Given the description of an element on the screen output the (x, y) to click on. 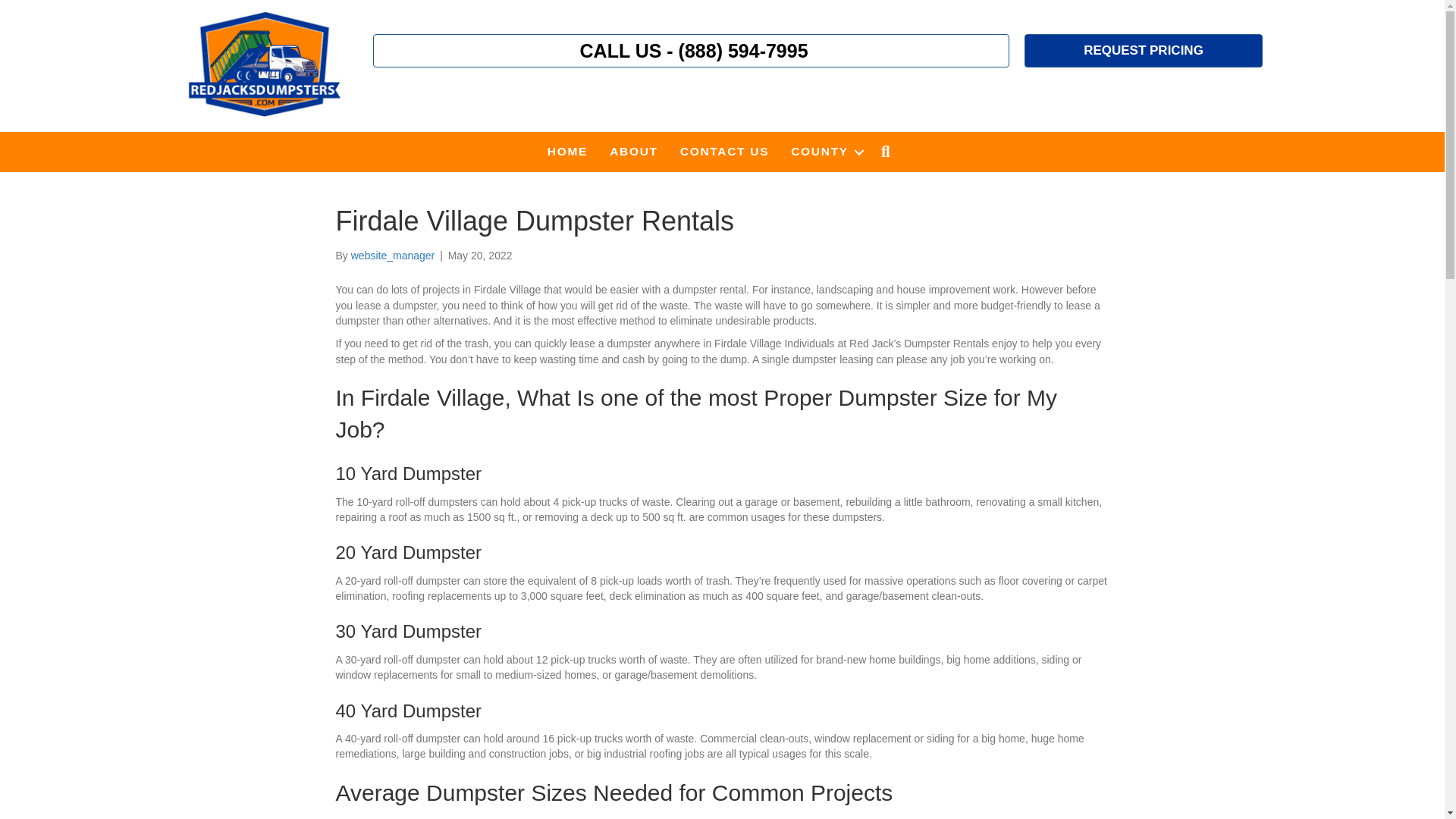
CONTACT US (723, 151)
COUNTY (824, 151)
HOME (567, 151)
REQUEST PRICING (1144, 50)
logo-png (264, 63)
ABOUT (633, 151)
SEARCH (888, 151)
